Given the description of an element on the screen output the (x, y) to click on. 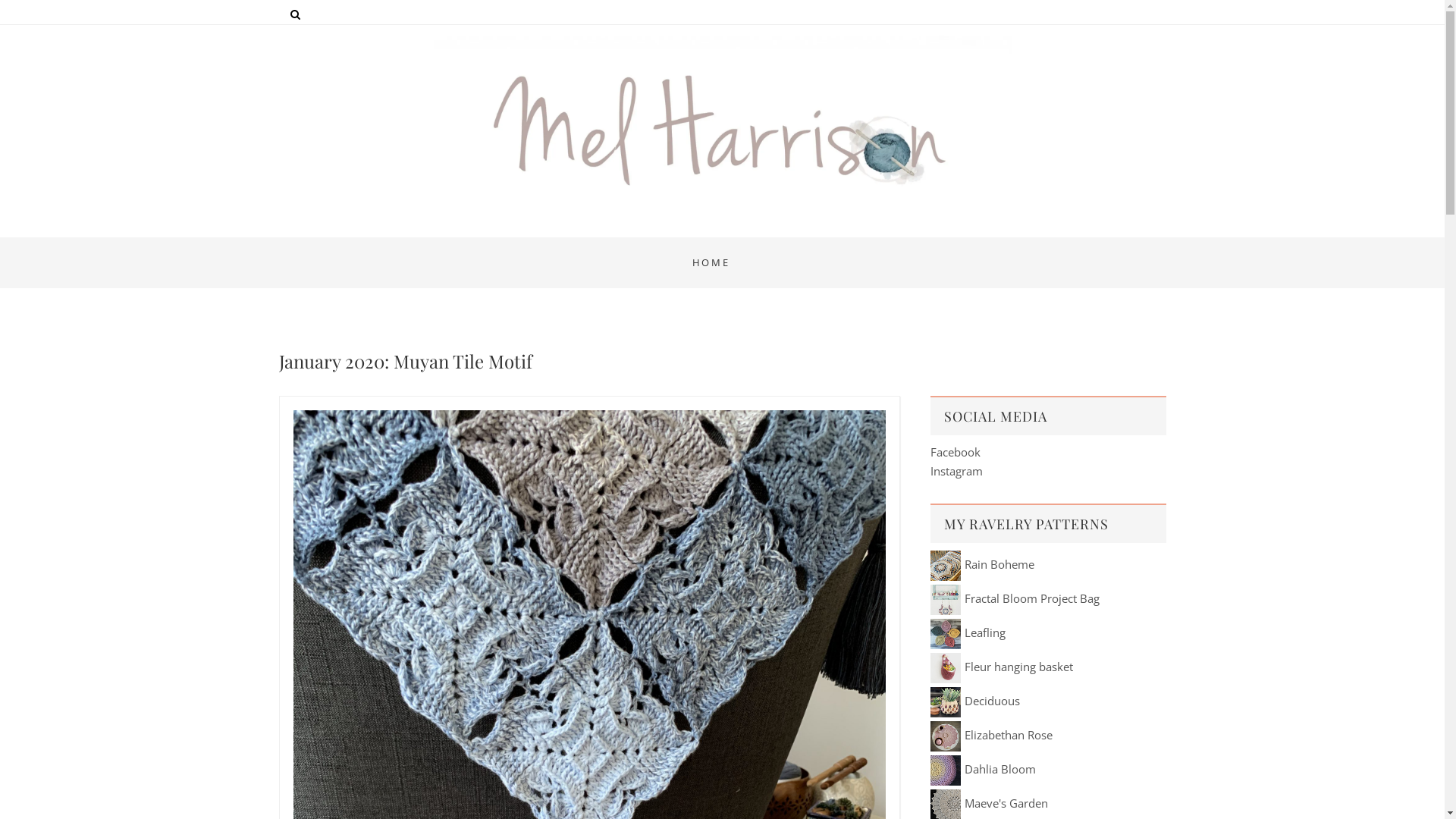
Elizabethan Rose Element type: text (990, 734)
Rain Boheme Element type: text (981, 563)
Instagram Element type: text (955, 470)
HOME Element type: text (710, 262)
Leafling Element type: text (966, 632)
Maeve's Garden Element type: text (988, 802)
Fleur hanging basket Element type: text (1000, 666)
Dahlia Bloom Element type: text (982, 768)
Deciduous Element type: text (974, 700)
Fractal Bloom Project Bag Element type: text (1013, 597)
Facebook Element type: text (954, 451)
